Given the description of an element on the screen output the (x, y) to click on. 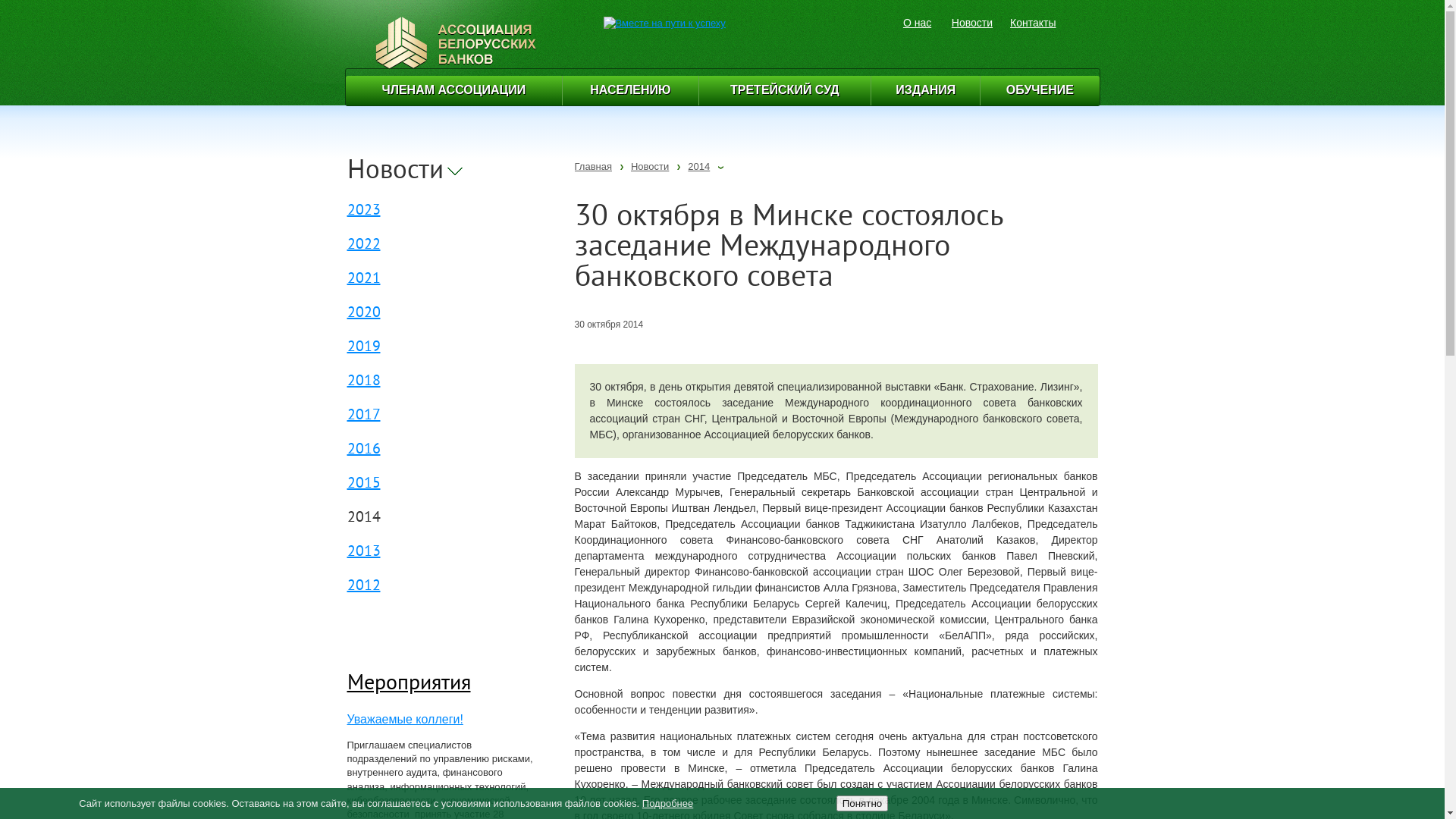
2019 Element type: text (363, 347)
2013 Element type: text (363, 551)
2021 Element type: text (363, 278)
2015 Element type: text (363, 483)
2012 Element type: text (363, 586)
2020 Element type: text (363, 313)
2023 Element type: text (363, 210)
2016 Element type: text (363, 449)
2018 Element type: text (363, 381)
2014 Element type: text (698, 166)
2017 Element type: text (363, 415)
2022 Element type: text (363, 244)
